Given the description of an element on the screen output the (x, y) to click on. 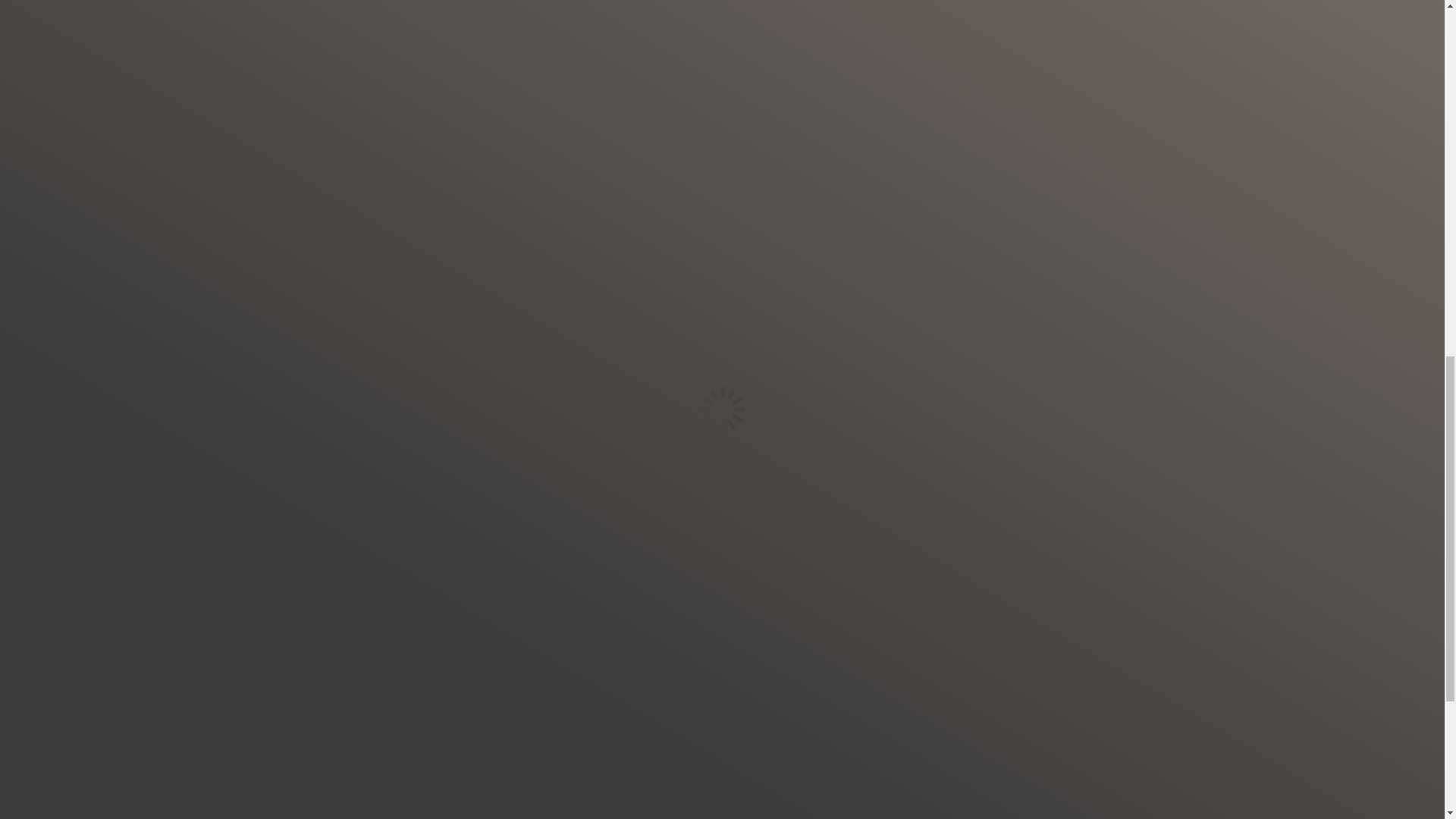
The Art of Perception (669, 291)
10:09 pm (678, 463)
News (561, 463)
View all posts by kmaginnis (419, 582)
By kmaginnis (614, 463)
May 30, 2019 (614, 463)
Click here (678, 463)
Introducing the new Katherine Maginnis e-commerce website (291, 388)
Petr Weigl produces large scale commissions for KM Clients (836, 801)
Emerging Artists (836, 714)
Click here (614, 488)
Art Curation (291, 409)
Shahina Jaffer (549, 488)
